Given the description of an element on the screen output the (x, y) to click on. 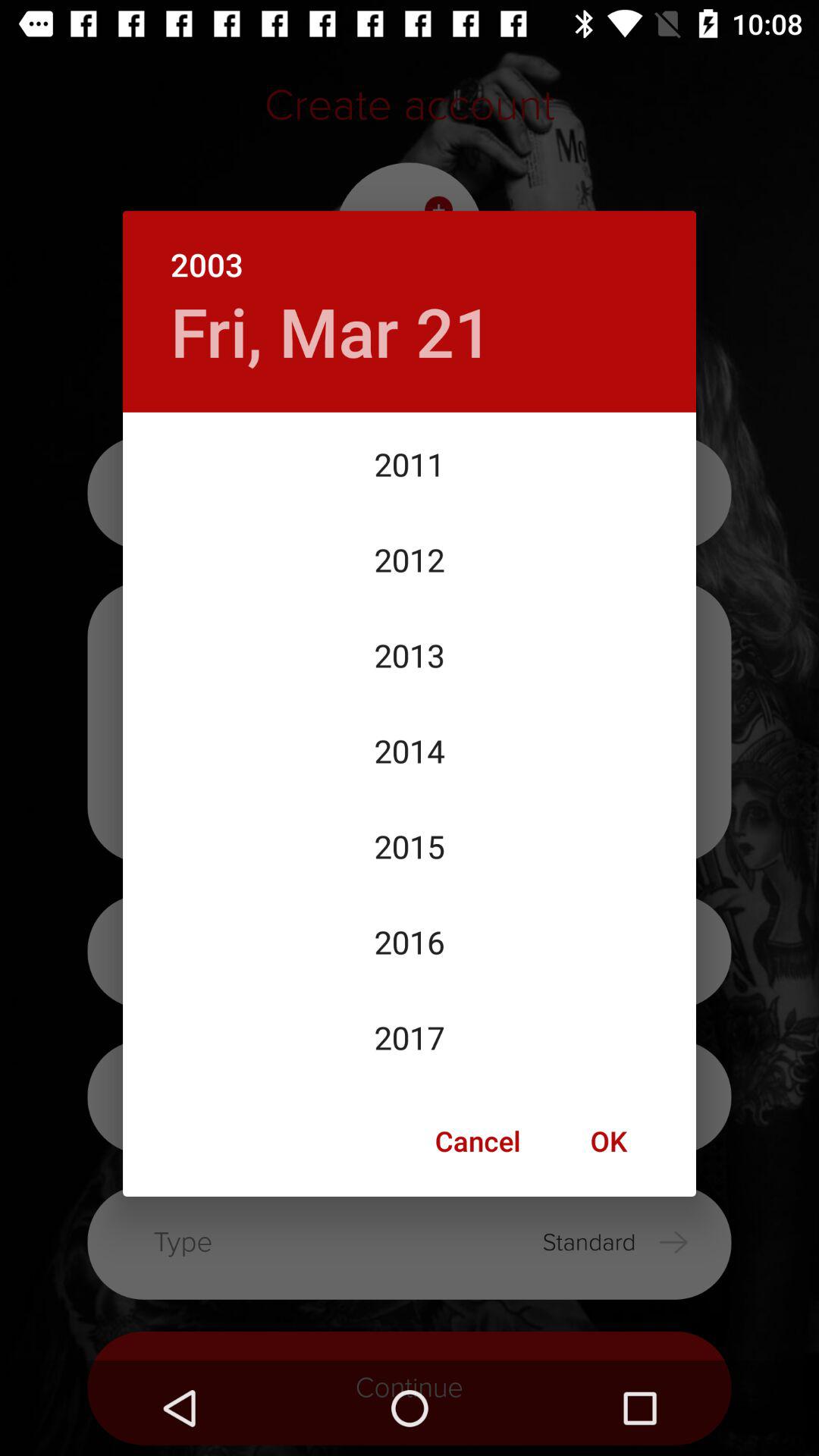
select cancel item (477, 1140)
